Given the description of an element on the screen output the (x, y) to click on. 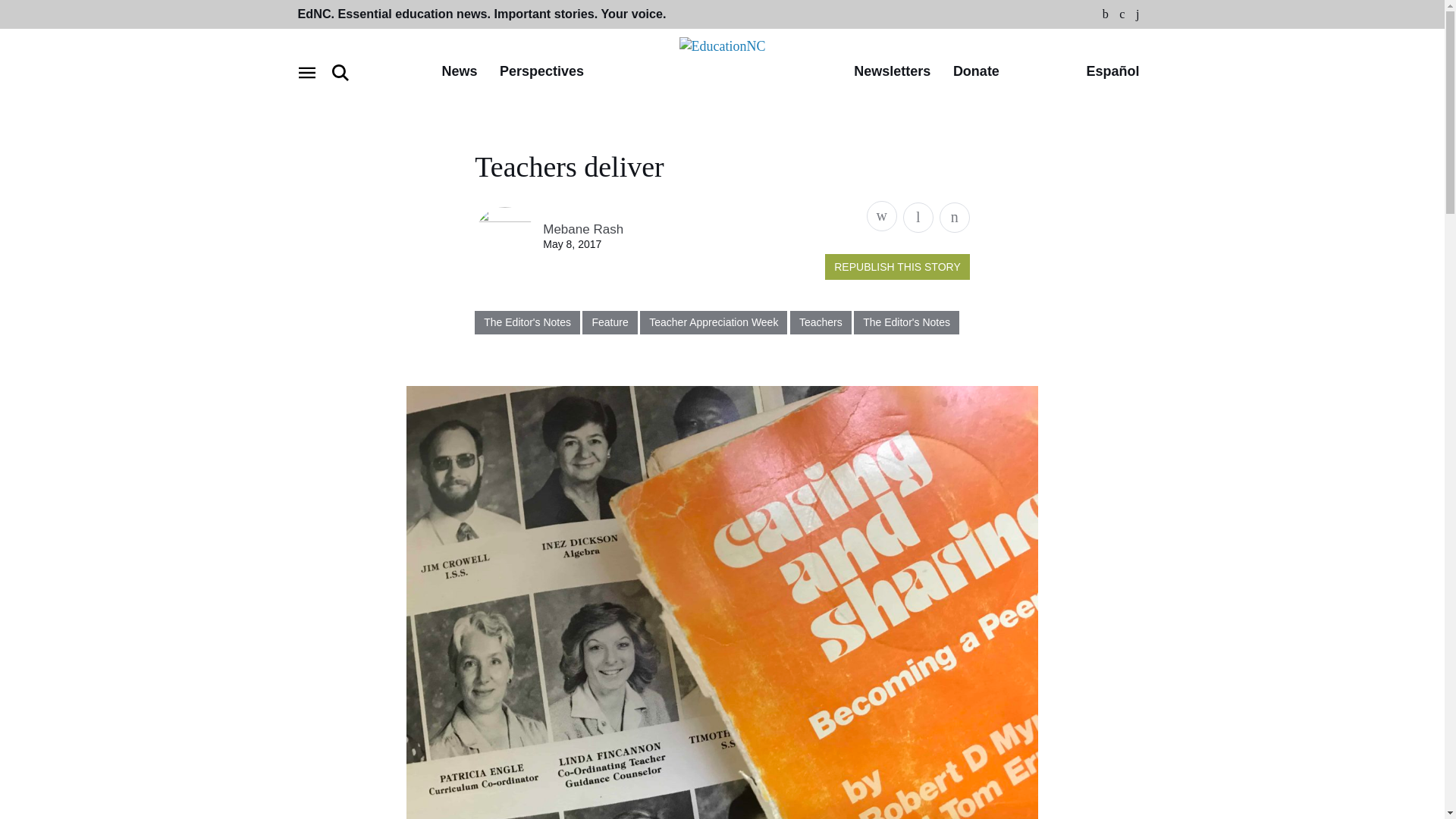
Share this page (881, 215)
Mebane Rash (583, 228)
Perspectives (541, 71)
Donate (975, 71)
News (459, 71)
Open navigation (306, 72)
Newsletters (891, 71)
